Given the description of an element on the screen output the (x, y) to click on. 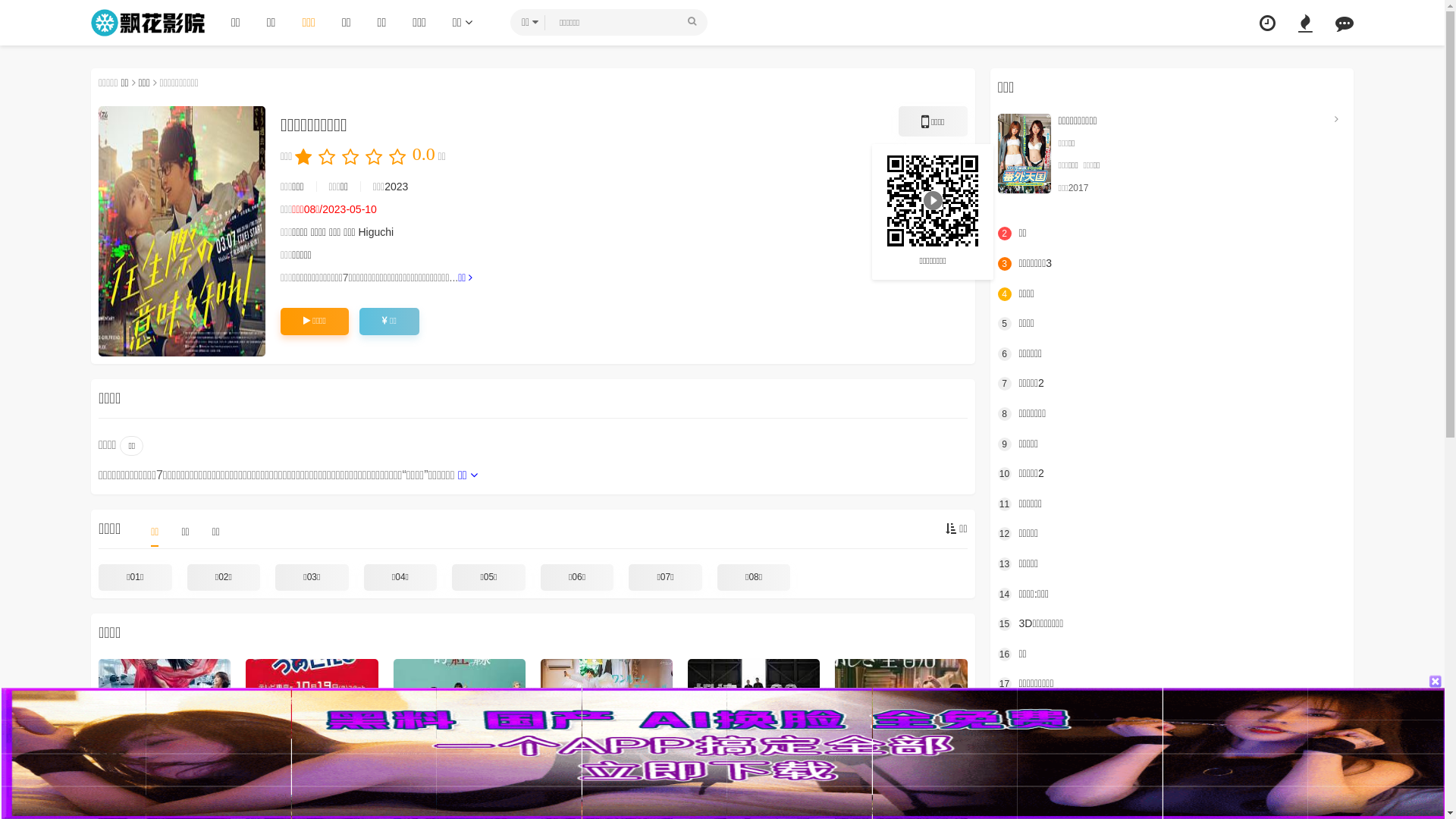
Higuchi Element type: text (375, 231)
https://123dyw.com/movie/55905.html Element type: hover (932, 199)
2023 Element type: text (395, 186)
